Given the description of an element on the screen output the (x, y) to click on. 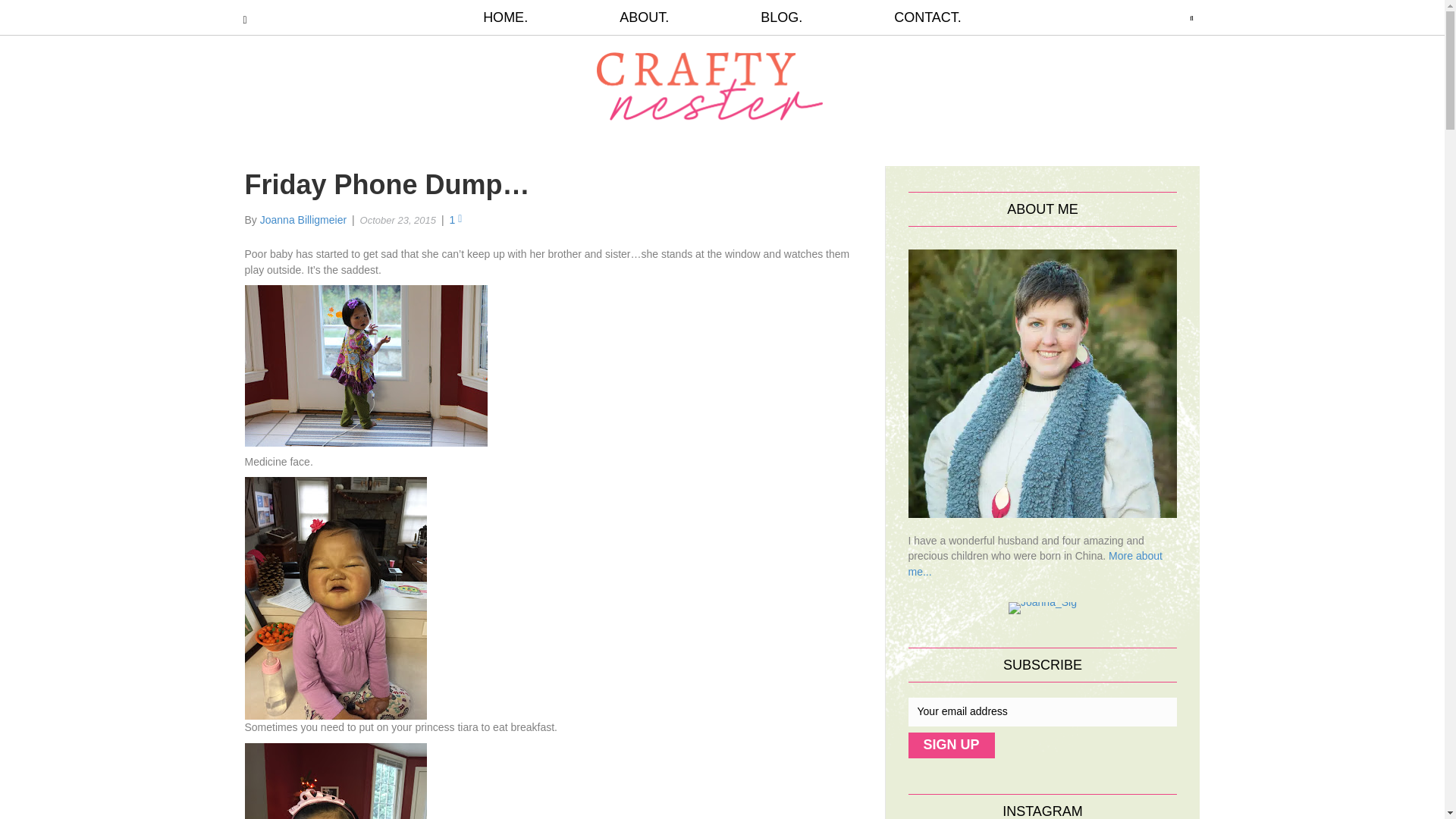
CONTACT. (904, 17)
1 (454, 219)
Sign up (951, 745)
Joanna Billigmeier (303, 219)
Joanna Headshot (1042, 382)
ABOUT. (643, 17)
HOME. (528, 17)
BLOG. (780, 17)
